Given the description of an element on the screen output the (x, y) to click on. 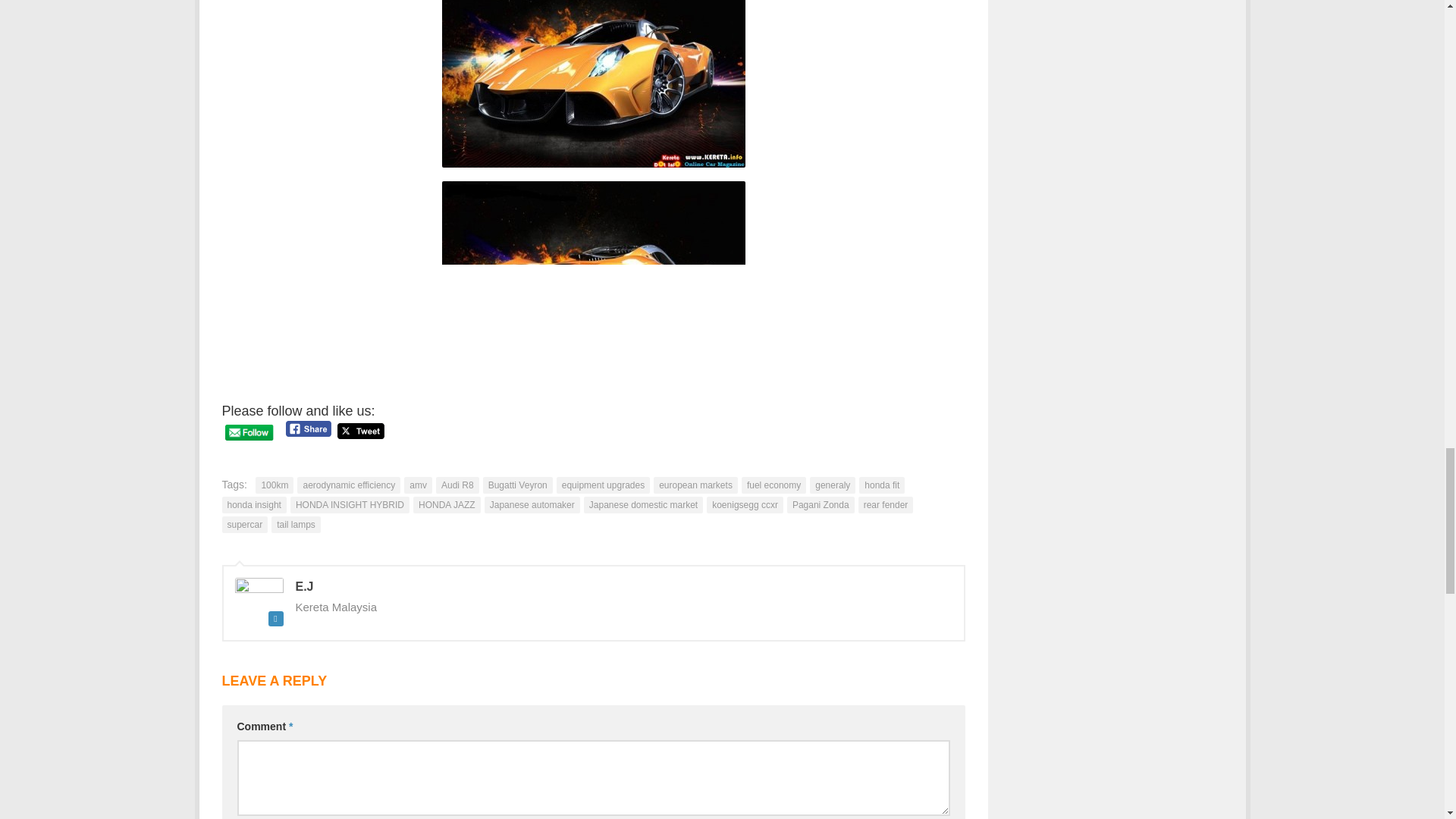
Japanese automaker (531, 504)
HONDA JAZZ (446, 504)
equipment upgrades (602, 484)
supercar (244, 524)
2010-AMV-R-Supercar-Concept-Front-Angle-View (592, 83)
tail lamps (295, 524)
Facebook Share (308, 428)
rear fender (886, 504)
Bugatti Veyron (518, 484)
Audi R8 (457, 484)
